Given the description of an element on the screen output the (x, y) to click on. 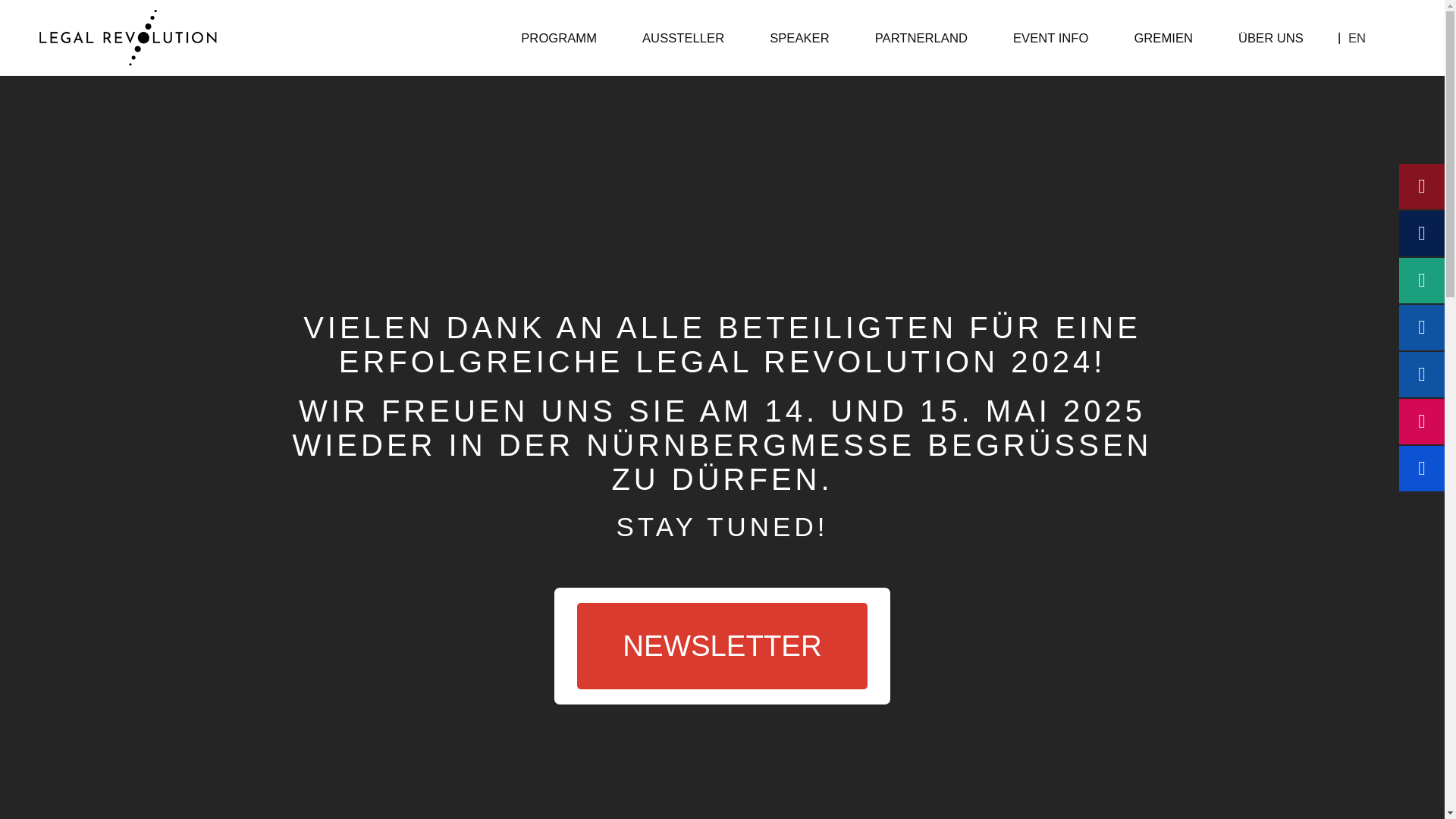
PARTNERLAND (920, 37)
EN (1356, 37)
EVENT INFO (1050, 37)
AUSSTELLER (683, 37)
PROGRAMM (558, 37)
GREMIEN (1162, 37)
SPEAKER (798, 37)
